Given the description of an element on the screen output the (x, y) to click on. 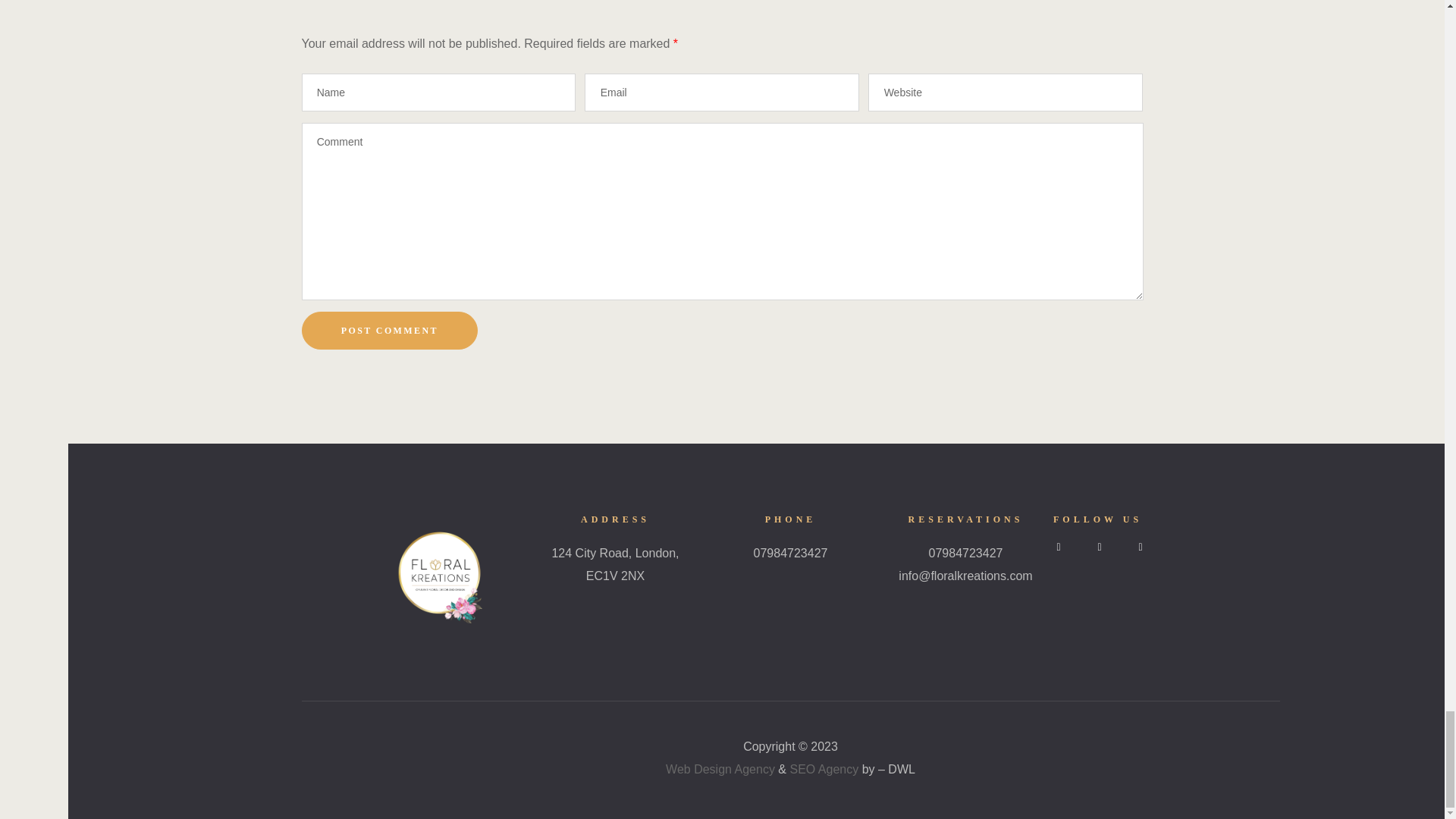
Post Comment (390, 331)
